Given the description of an element on the screen output the (x, y) to click on. 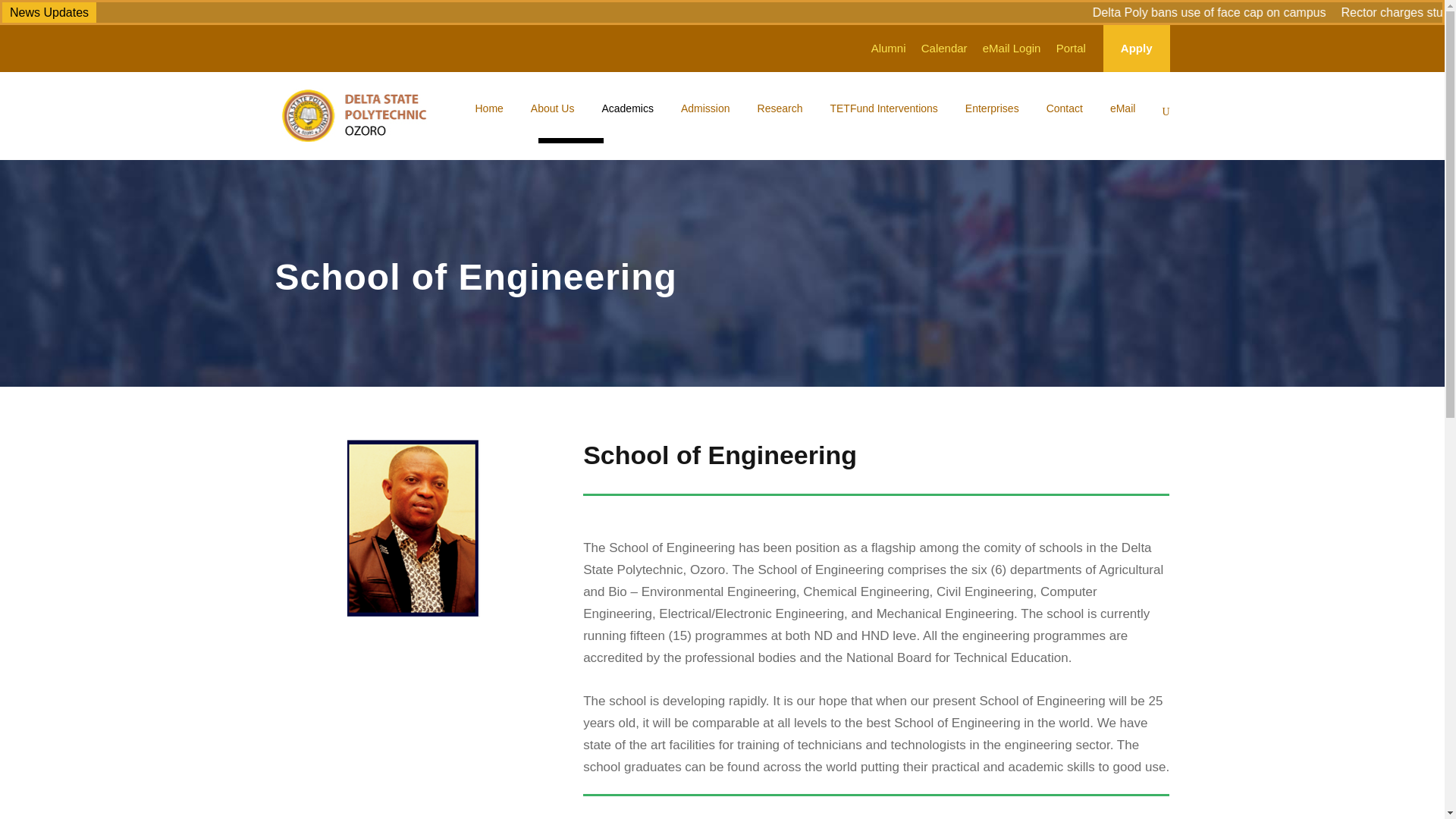
web-logo-ozoro (355, 114)
